Given the description of an element on the screen output the (x, y) to click on. 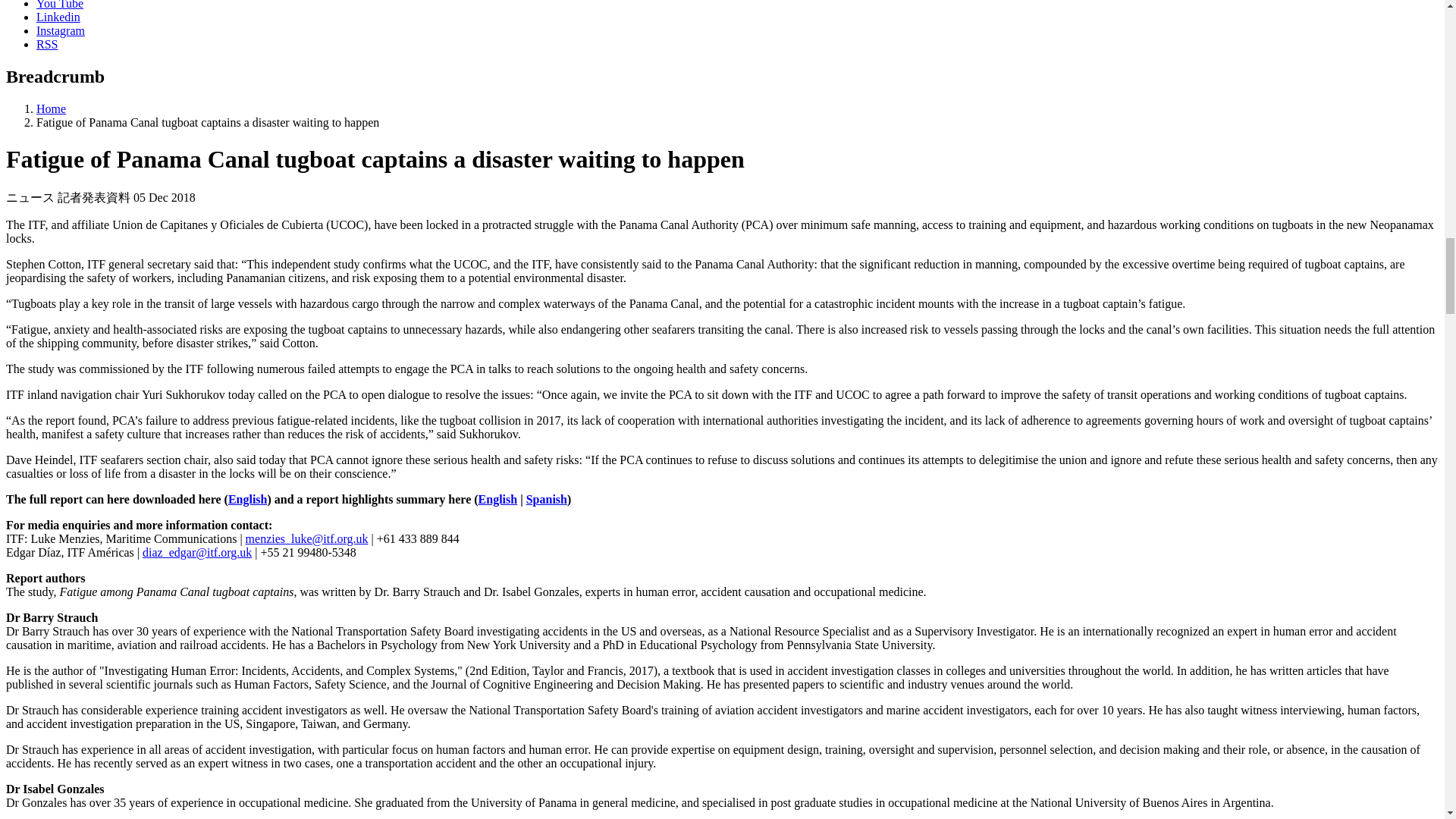
Wednesday, December 5, 2018 - 04:50 (164, 196)
